Given the description of an element on the screen output the (x, y) to click on. 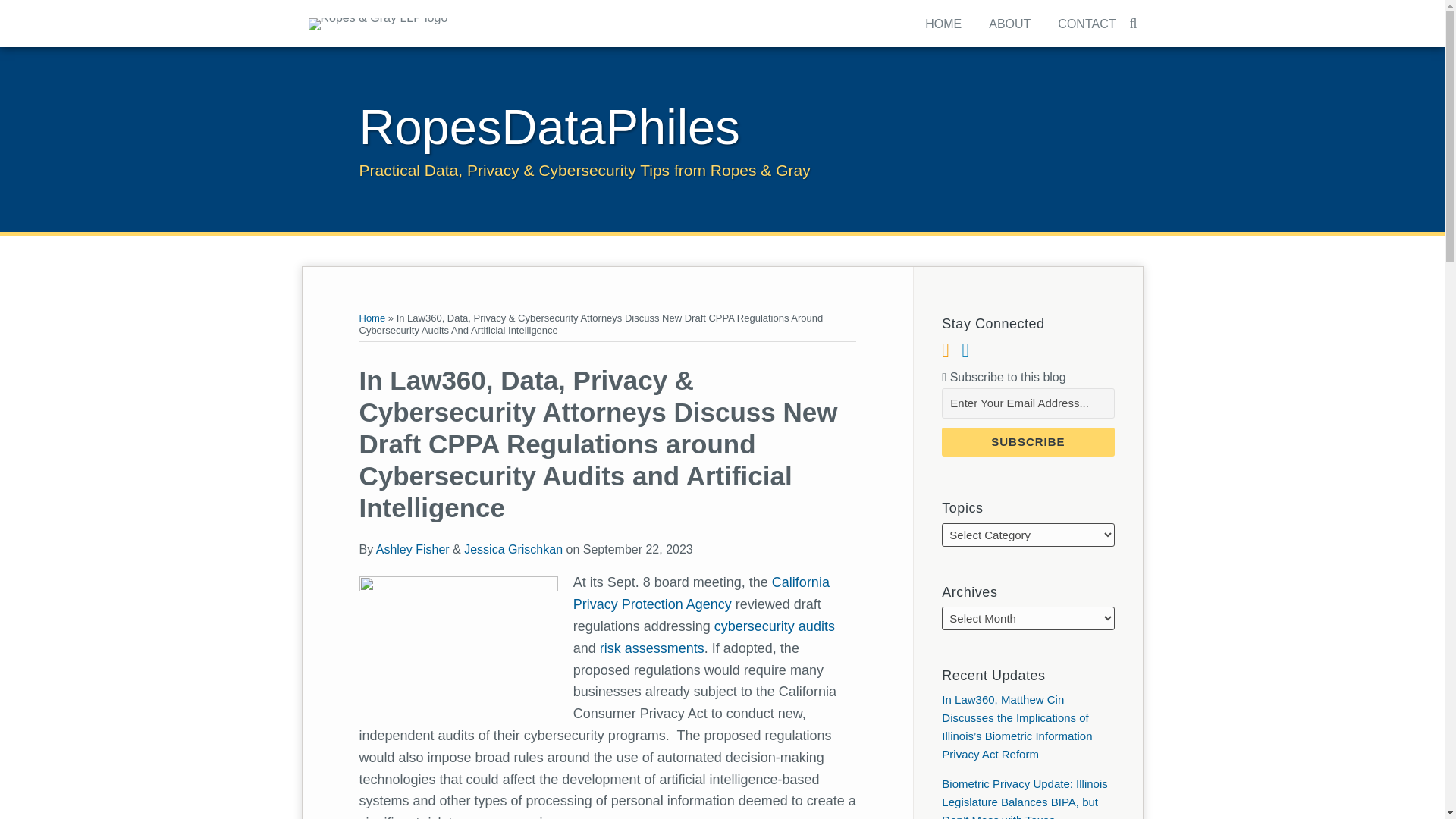
Ashley Fisher (412, 549)
Home (372, 317)
RopesDataPhiles (549, 126)
HOME (942, 24)
ABOUT (1009, 24)
CONTACT (1086, 24)
cybersecurity audits (774, 626)
Jessica Grischkan (513, 549)
Subscribe (1027, 441)
California Privacy Protection Agency (701, 592)
